Given the description of an element on the screen output the (x, y) to click on. 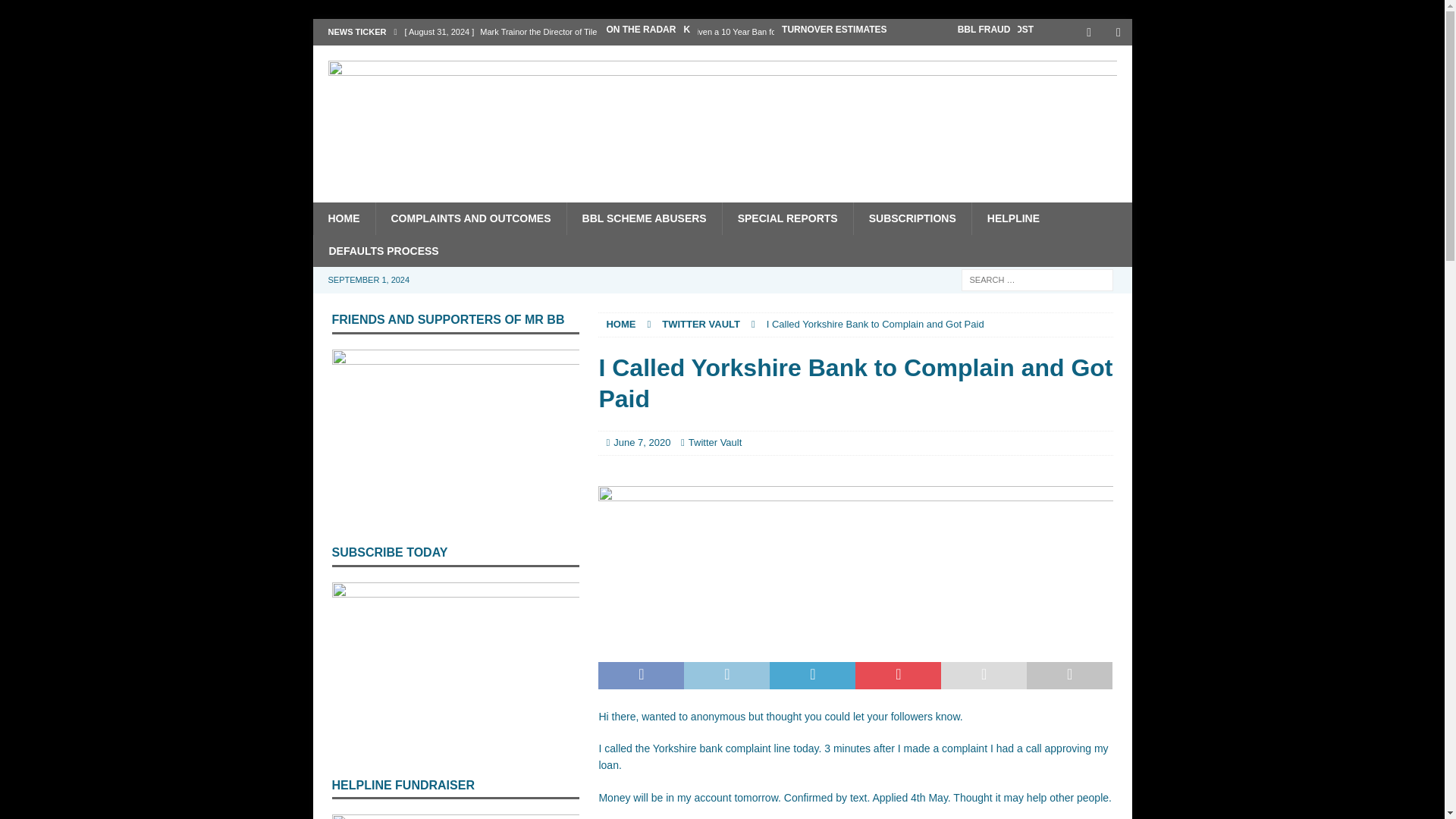
SUBSCRIPTIONS (912, 218)
TWITTER VAULT (700, 324)
COMPLAINTS AND OUTCOMES (470, 218)
SPECIAL REPORTS (787, 218)
DEFAULTS PROCESS (382, 250)
Search (56, 11)
Twitter Vault (715, 441)
June 7, 2020 (640, 441)
BBL SCHEME ABUSERS (644, 218)
HOME (619, 324)
